Given the description of an element on the screen output the (x, y) to click on. 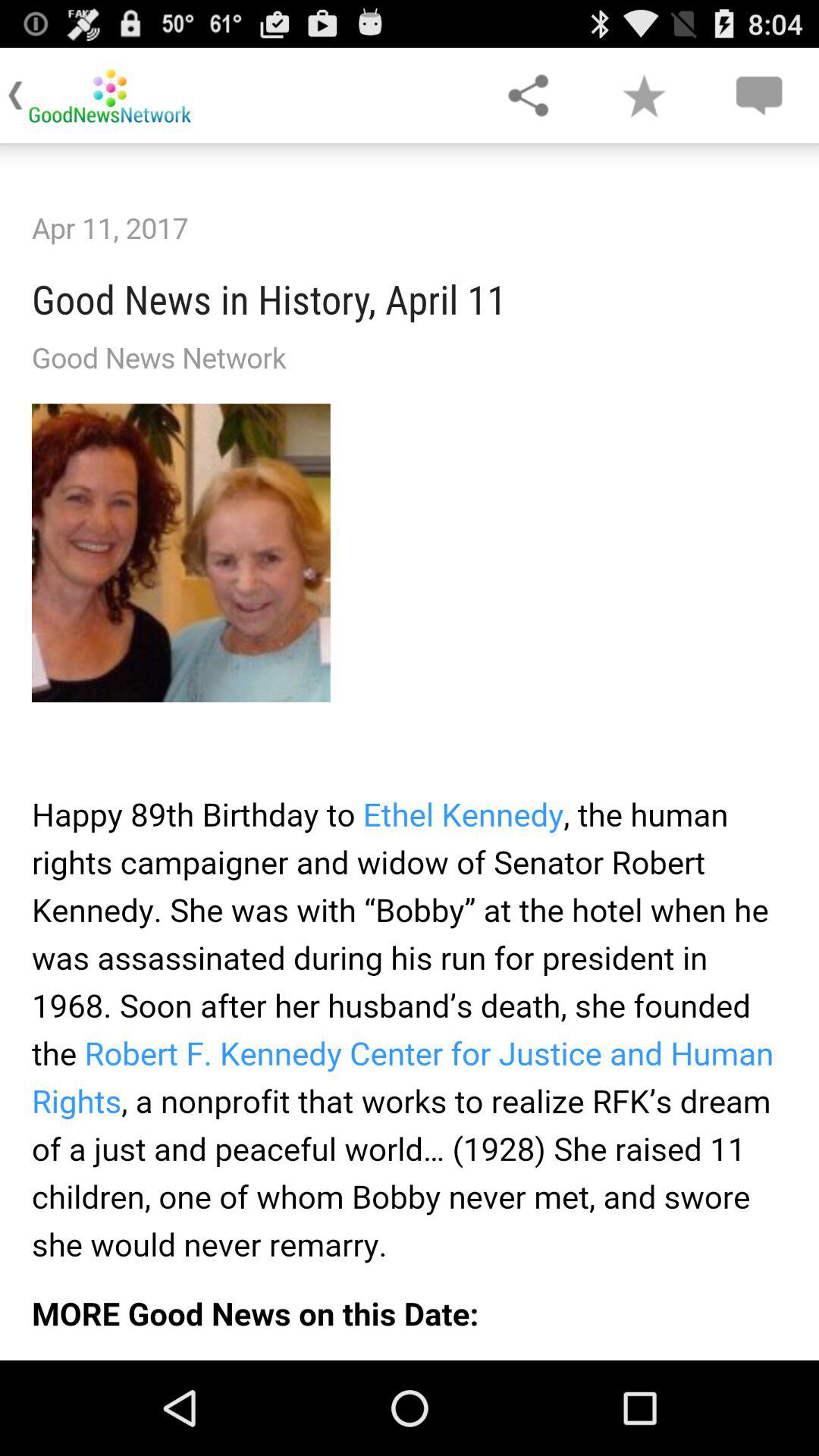
send a message (758, 95)
